Given the description of an element on the screen output the (x, y) to click on. 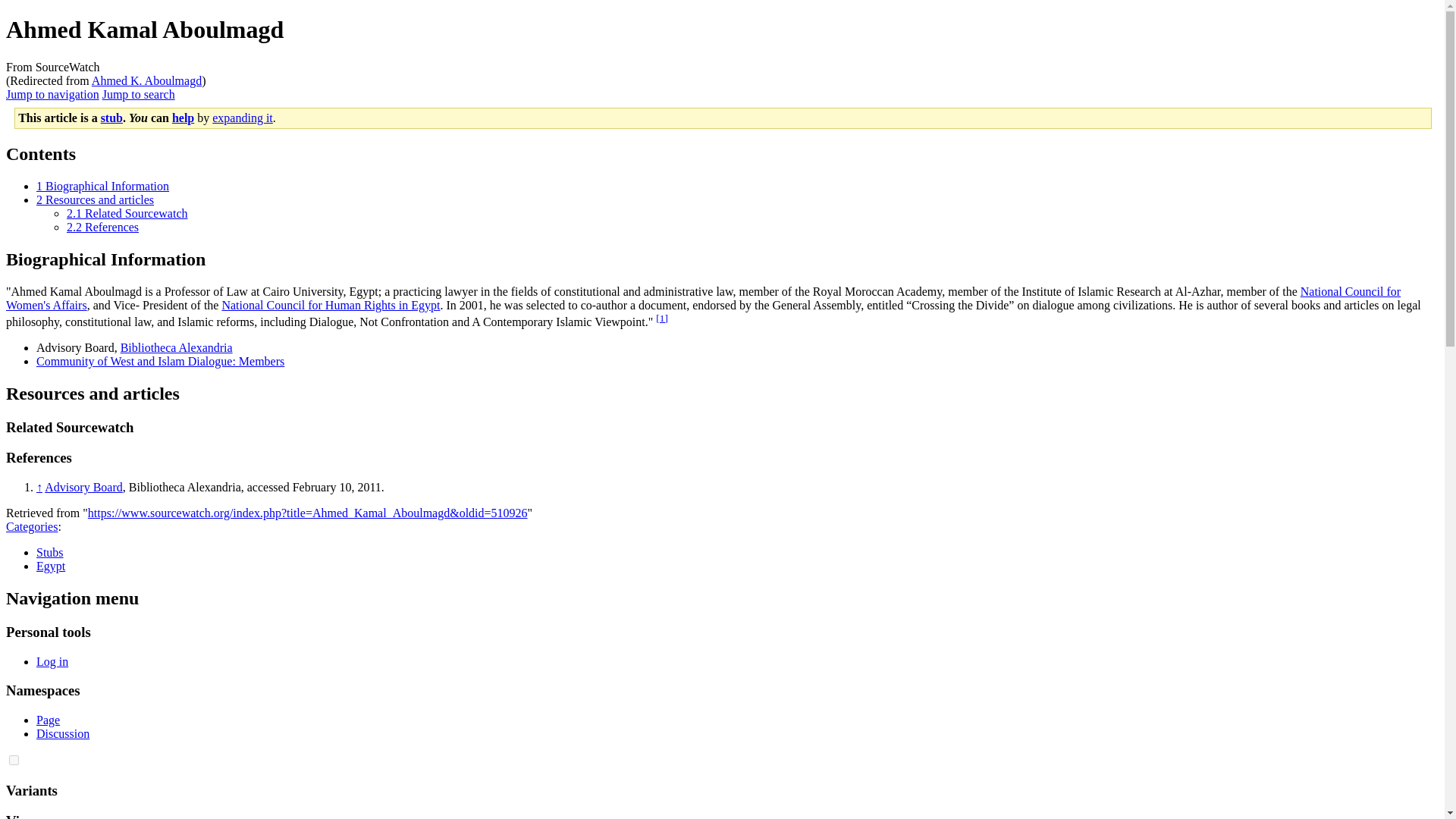
SourceWatch:Find or fix a stub (182, 117)
Egypt (50, 565)
National Council for Human Rights in Egypt (330, 305)
1 Biographical Information (102, 185)
Categories (31, 526)
Stubs (50, 552)
help (182, 117)
2 Resources and articles (95, 199)
Log in (52, 661)
Community of West and Islam Dialogue: Members (159, 360)
